Given the description of an element on the screen output the (x, y) to click on. 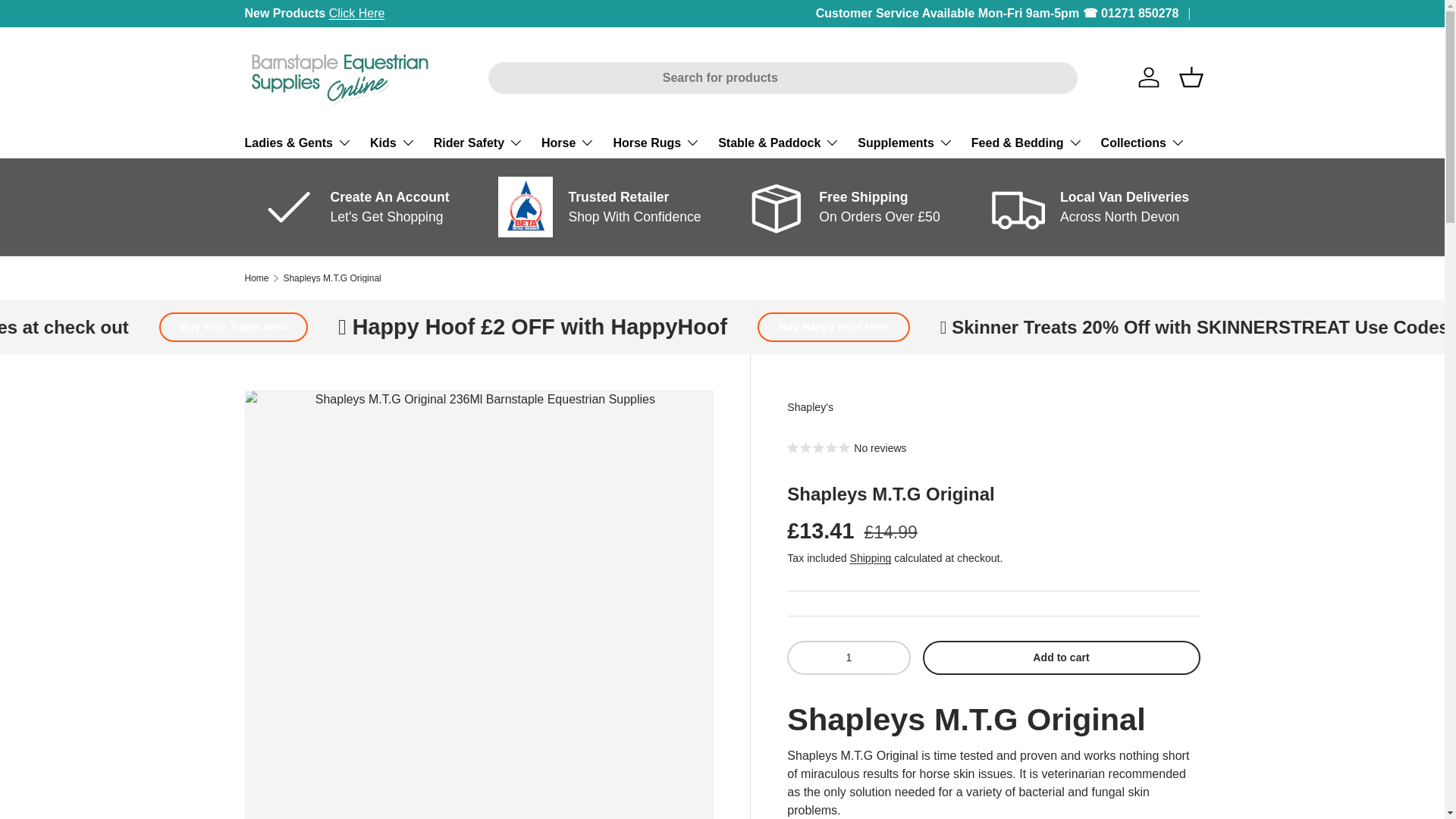
Skip to content (69, 21)
Log in (1147, 77)
Buy Happy Hoof Here (1011, 327)
Basket (1190, 77)
This Month's Special Offers (973, 12)
Click Here (357, 12)
CLICK HERE (973, 12)
1 (848, 657)
Buy Your Treats Now (415, 327)
